Given the description of an element on the screen output the (x, y) to click on. 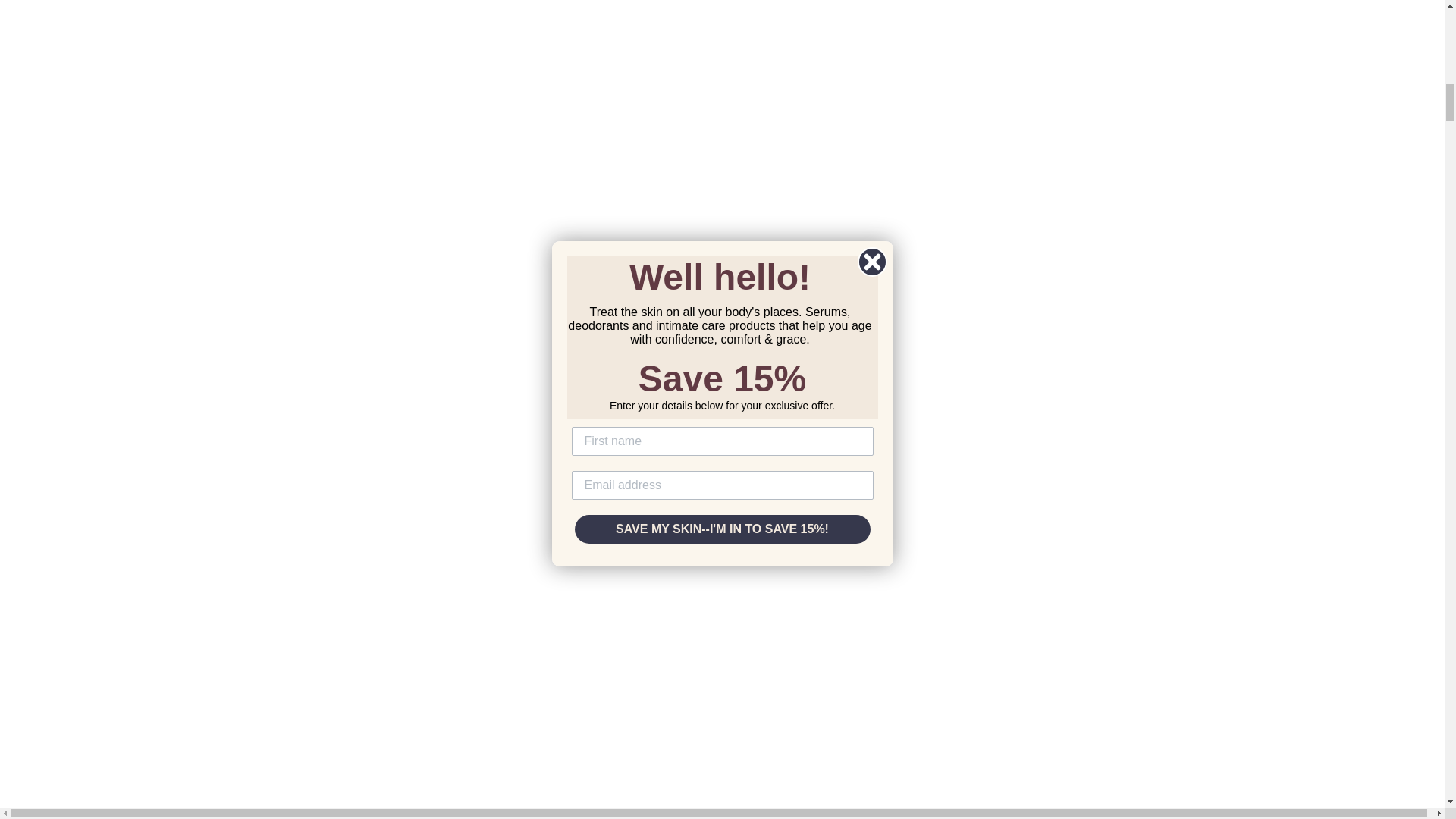
foot-deodorant (721, 664)
